Given the description of an element on the screen output the (x, y) to click on. 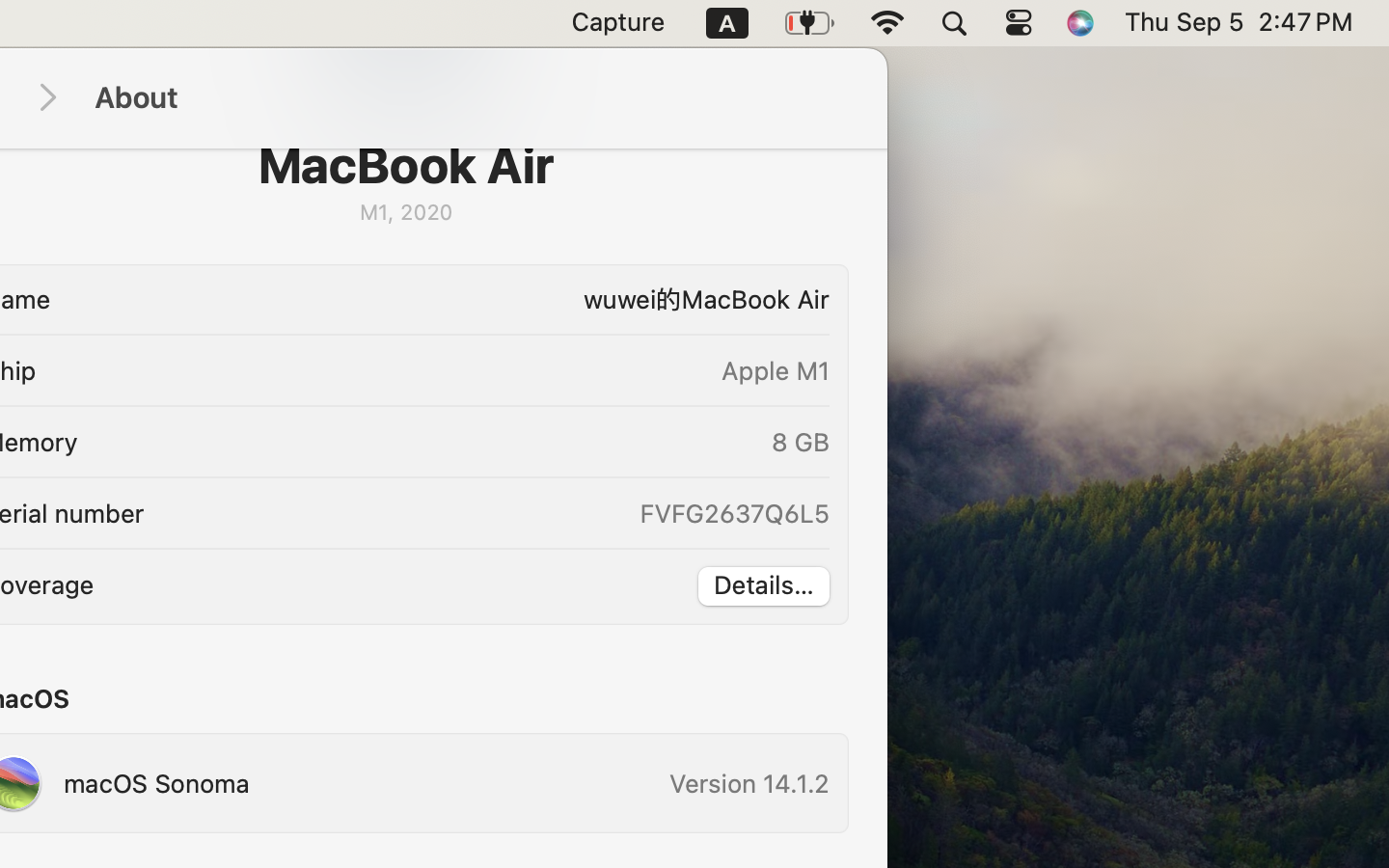
Apple M1 Element type: AXStaticText (775, 369)
wuwei的MacBook Air Element type: AXTextField (446, 298)
MacBook Air Element type: AXStaticText (405, 164)
